Given the description of an element on the screen output the (x, y) to click on. 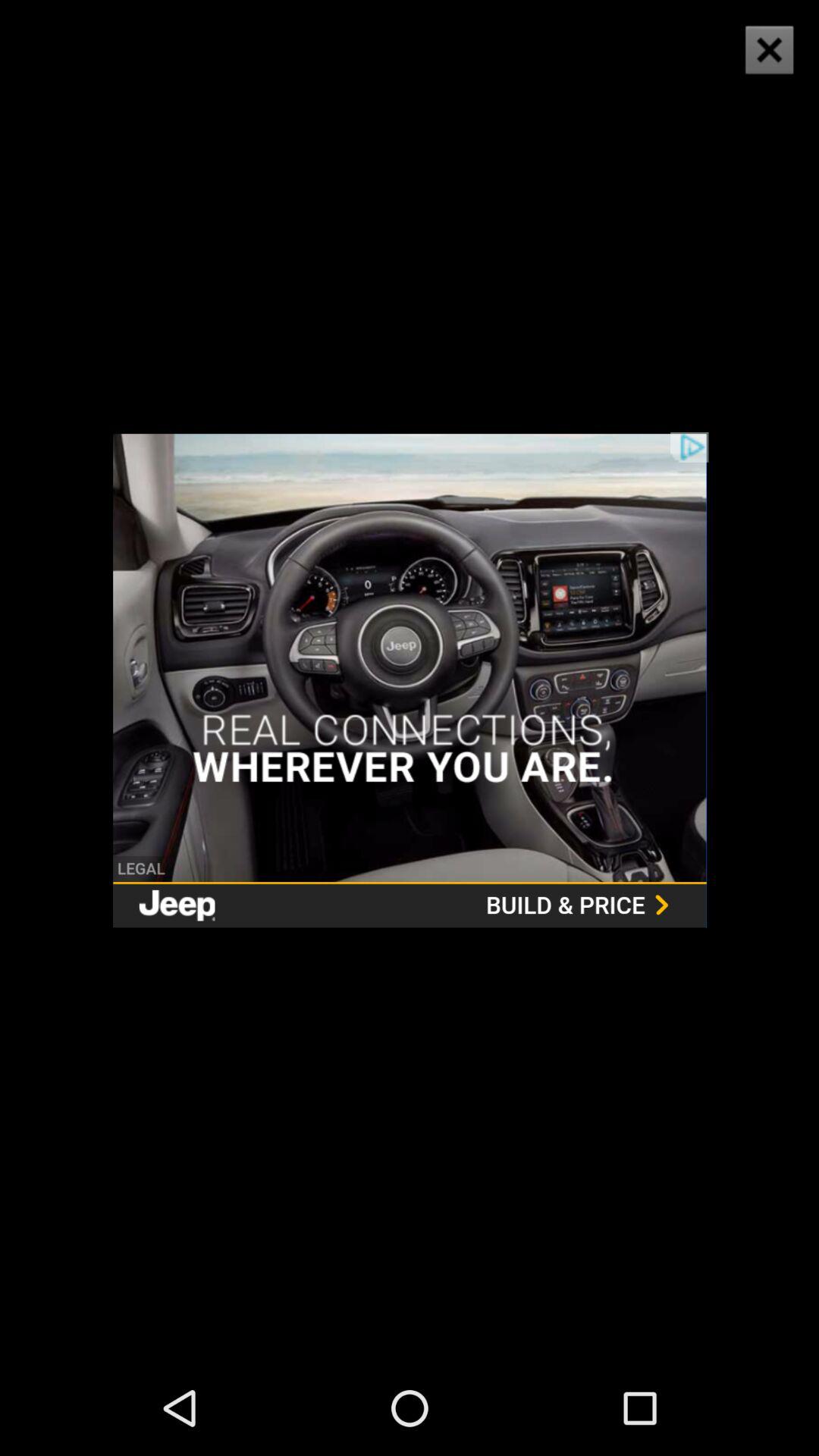
turn off the icon at the center (409, 680)
